Given the description of an element on the screen output the (x, y) to click on. 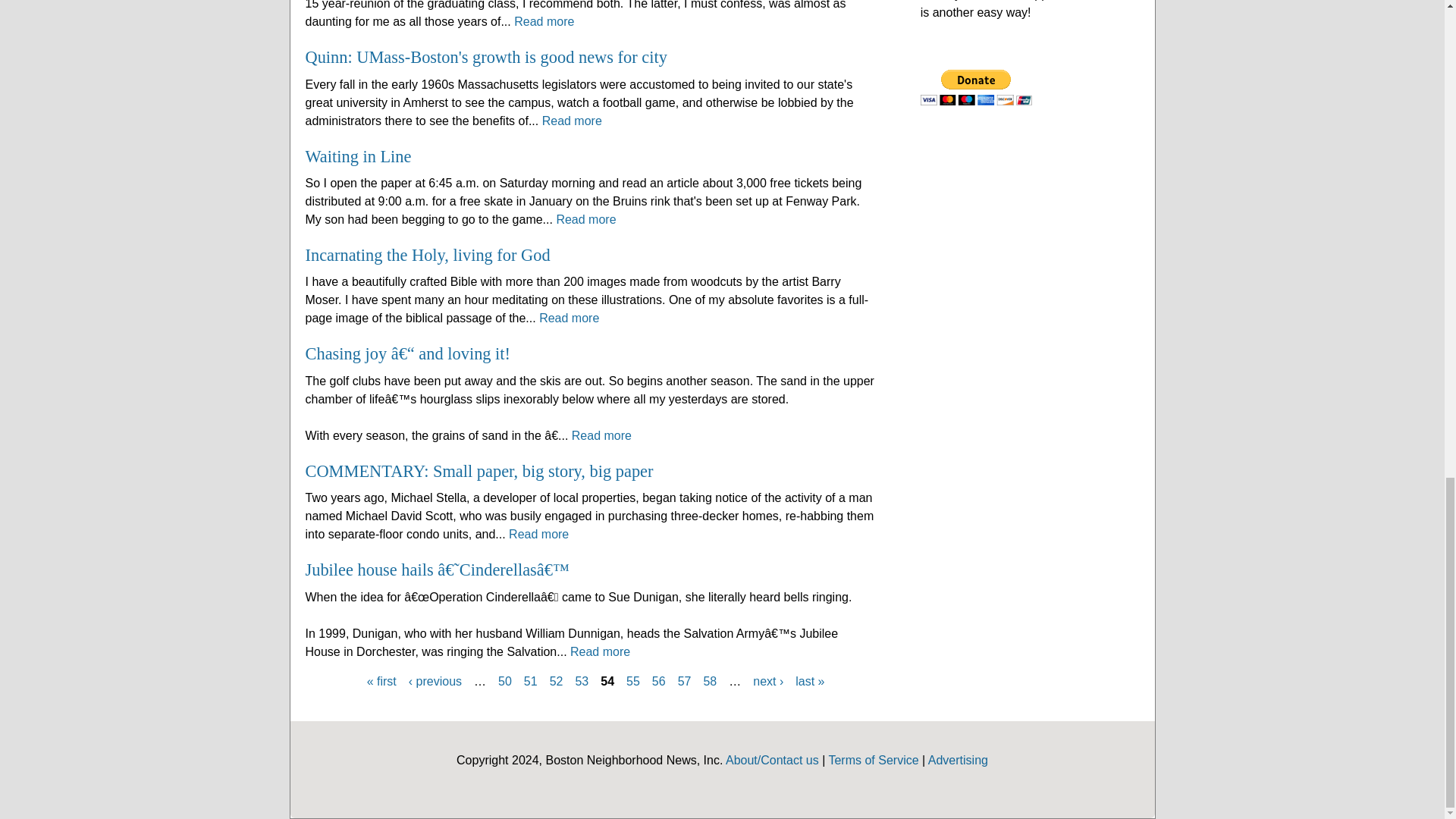
Go to previous page (435, 680)
Go to page 53 (581, 680)
Quinn: UMass-Boston's growth is good news for city (485, 56)
Go to page 51 (530, 680)
Go to page 55 (633, 680)
Go to page 52 (556, 680)
Go to page 50 (504, 680)
Go to first page (381, 680)
Read more (543, 21)
